Given the description of an element on the screen output the (x, y) to click on. 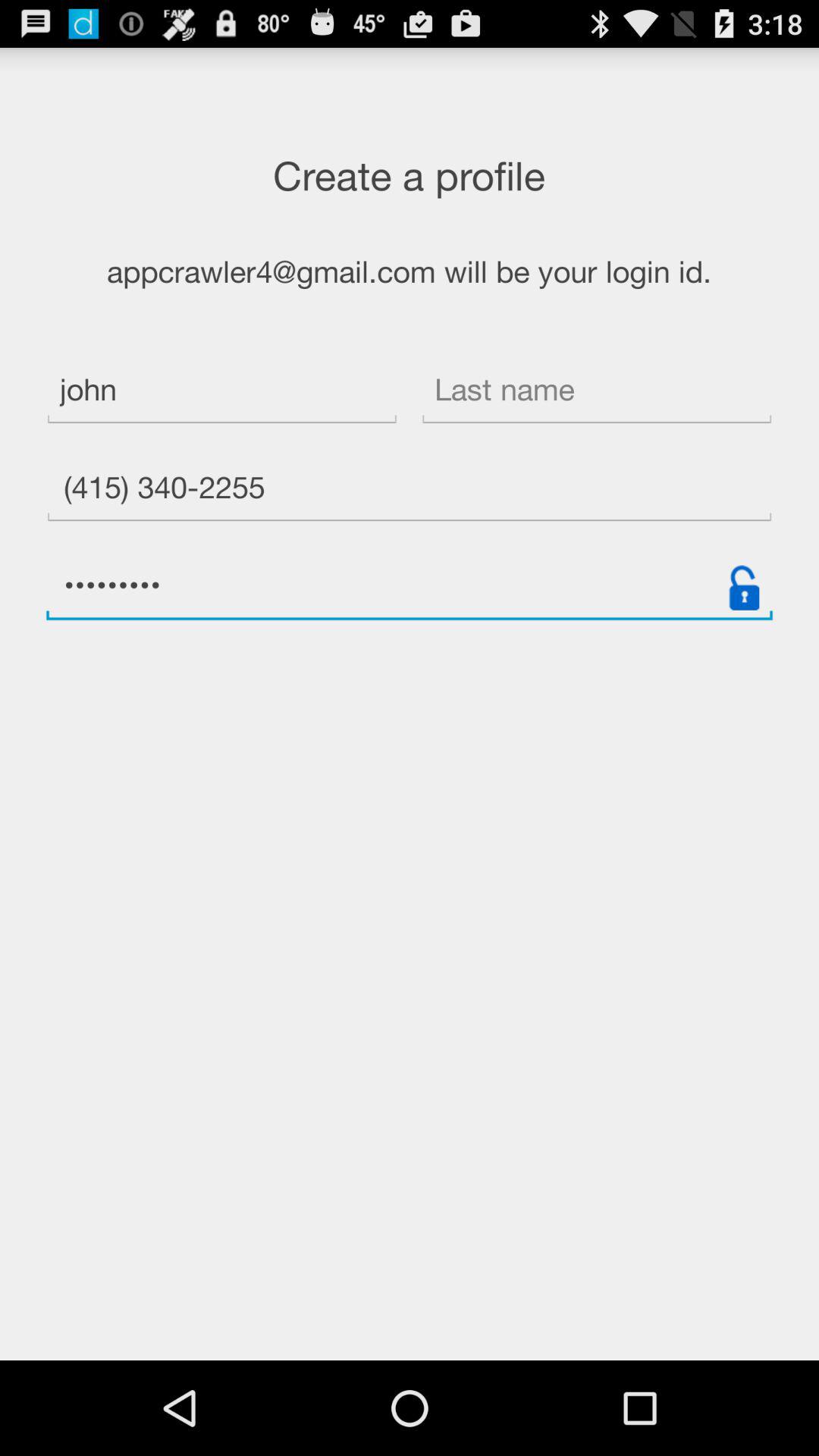
turn off (415) 340-2255 (409, 489)
